Given the description of an element on the screen output the (x, y) to click on. 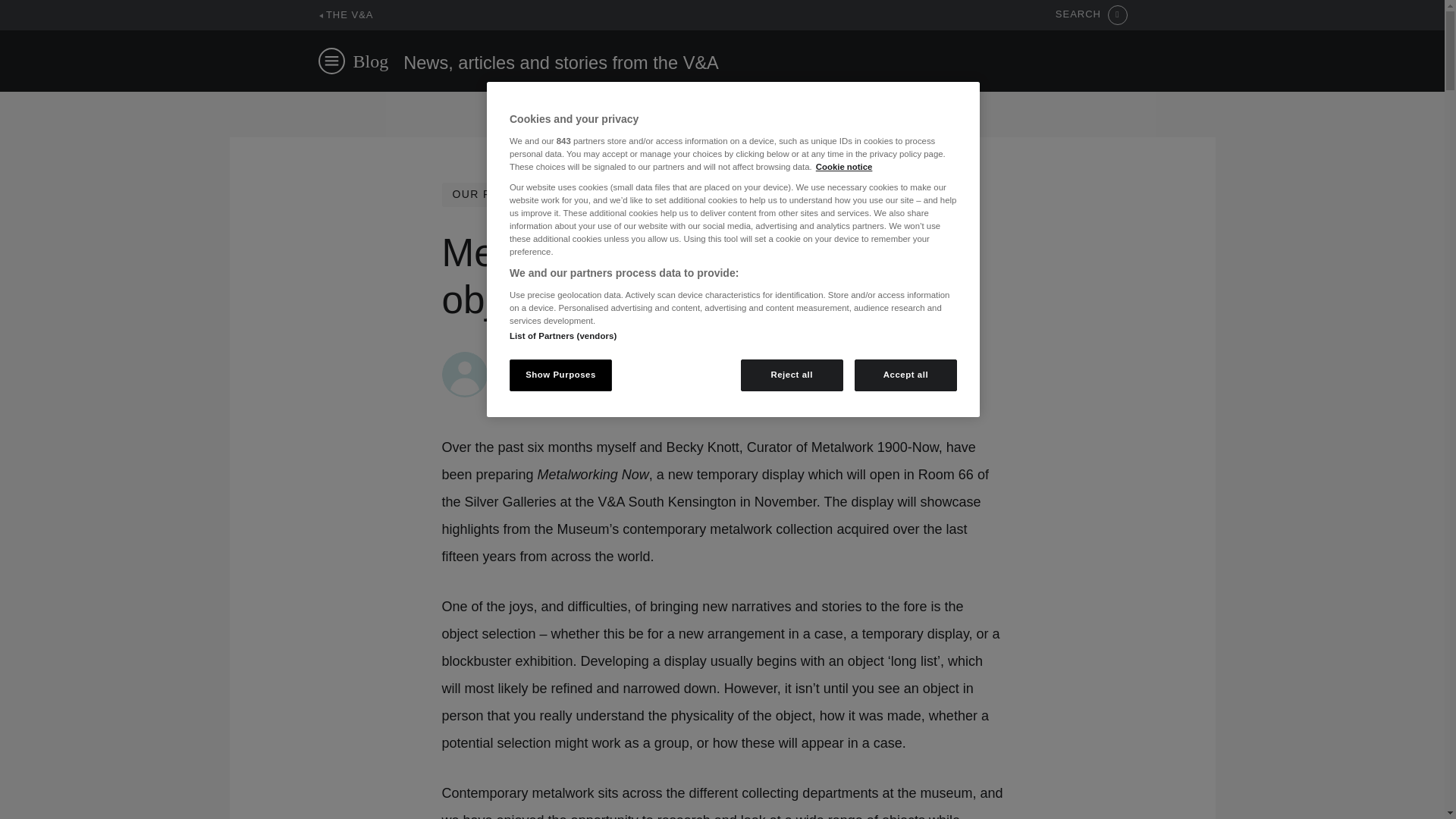
Blog (370, 60)
Posts by Clementine Loustric (550, 359)
SEARCH (1090, 15)
OUR PROJECTS (499, 194)
Clementine Loustric (550, 359)
